Given the description of an element on the screen output the (x, y) to click on. 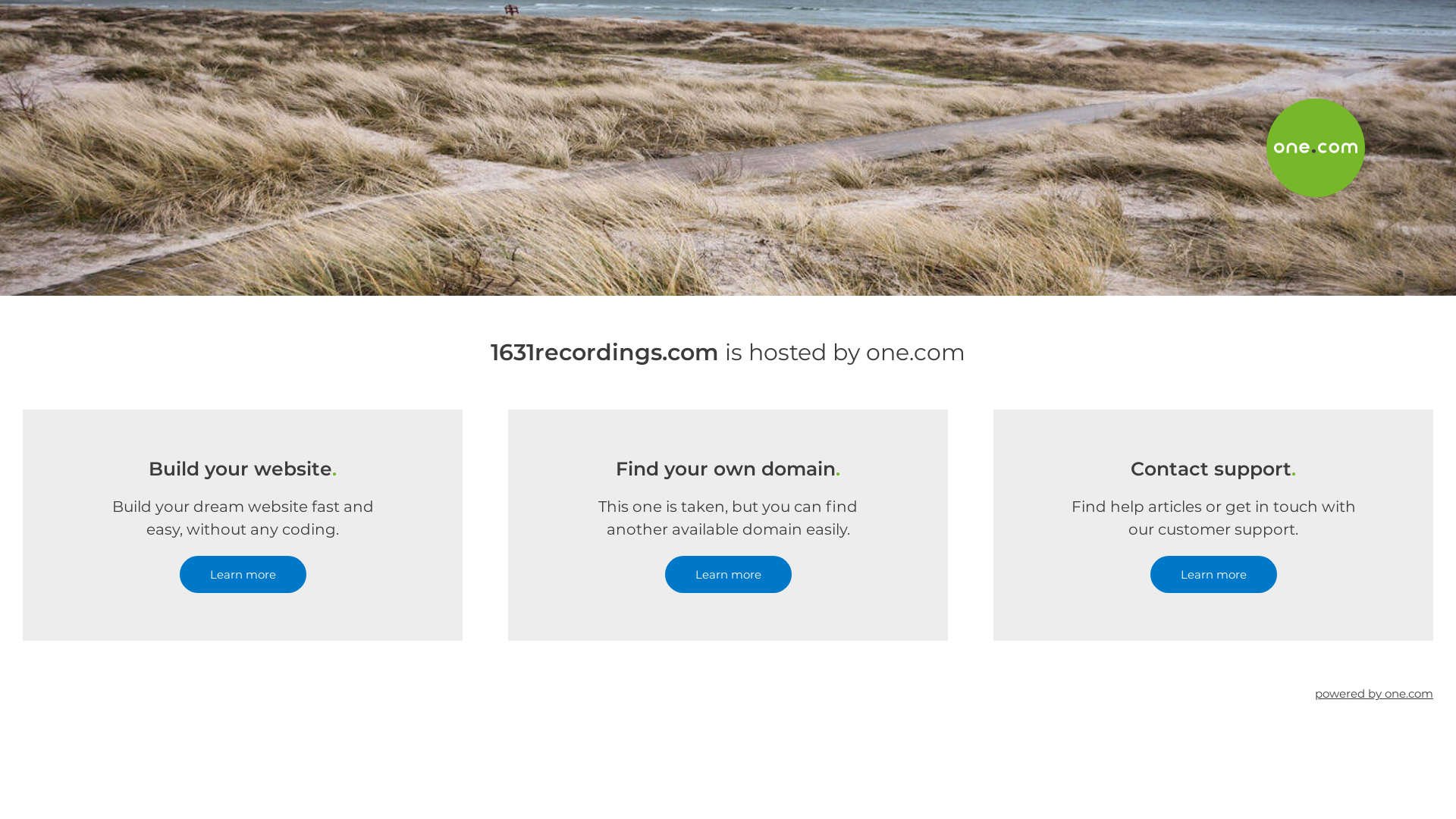
powered by one.com Element type: text (1373, 693)
Learn more Element type: text (1212, 574)
Learn more Element type: text (727, 574)
Learn more Element type: text (241, 574)
